Given the description of an element on the screen output the (x, y) to click on. 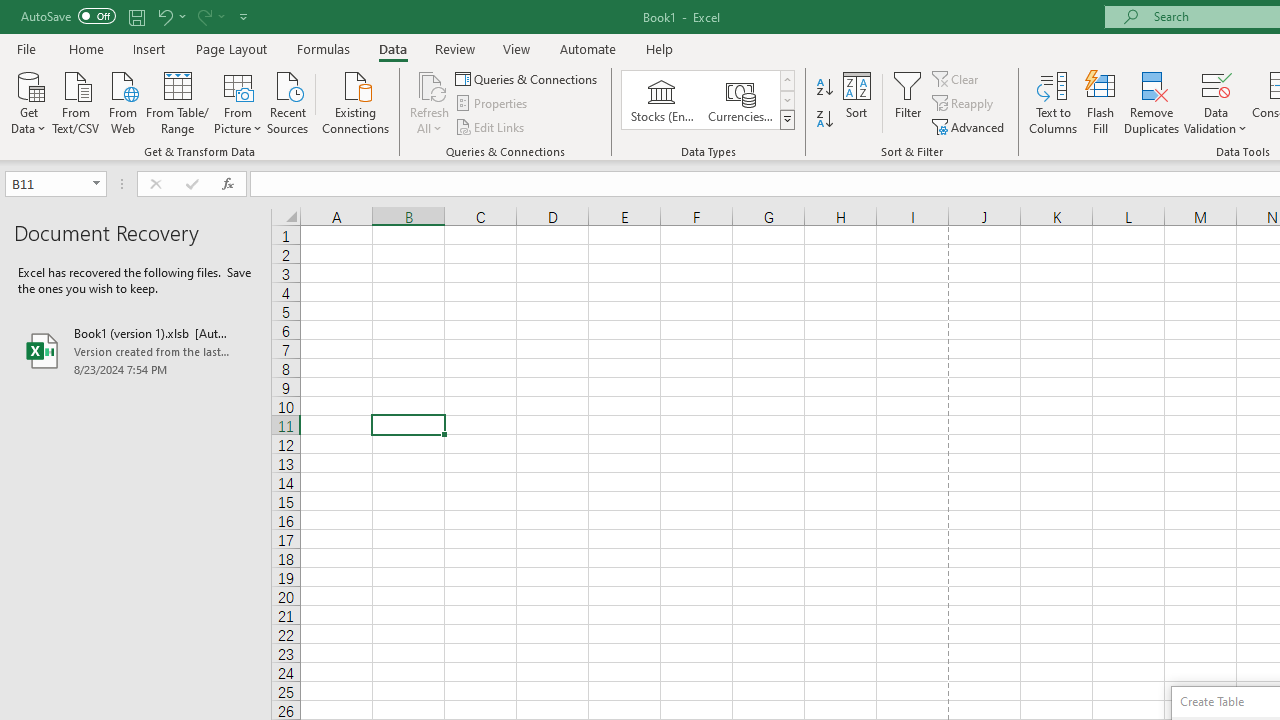
Advanced... (970, 126)
From Text/CSV (75, 101)
Get Data (28, 101)
Existing Connections (355, 101)
Stocks (English) (662, 100)
AutomationID: ConvertToLinkedEntity (708, 99)
Recent Sources (287, 101)
From Web (122, 101)
From Table/Range (177, 101)
